Given the description of an element on the screen output the (x, y) to click on. 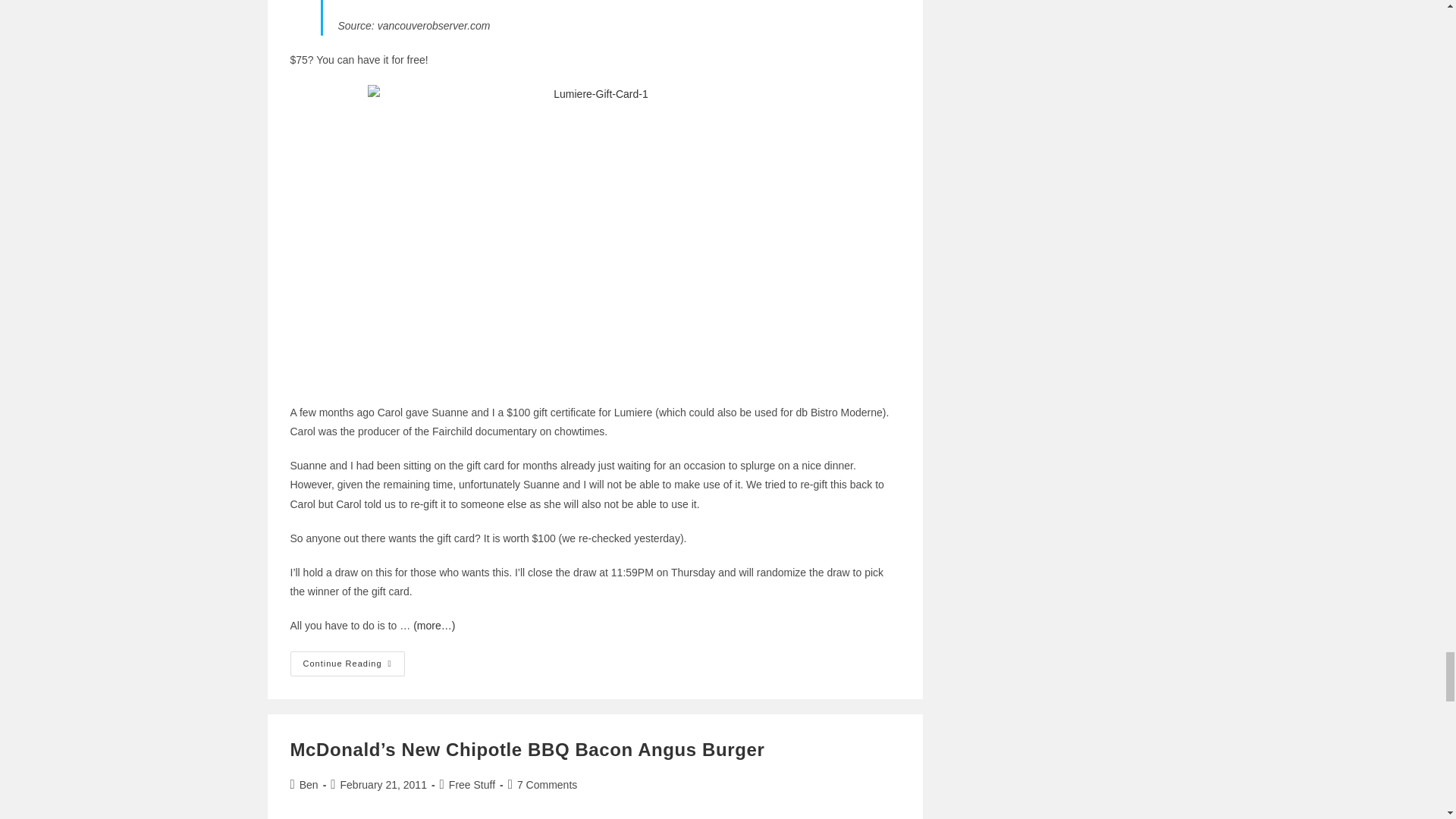
Posts by Ben (308, 784)
